Given the description of an element on the screen output the (x, y) to click on. 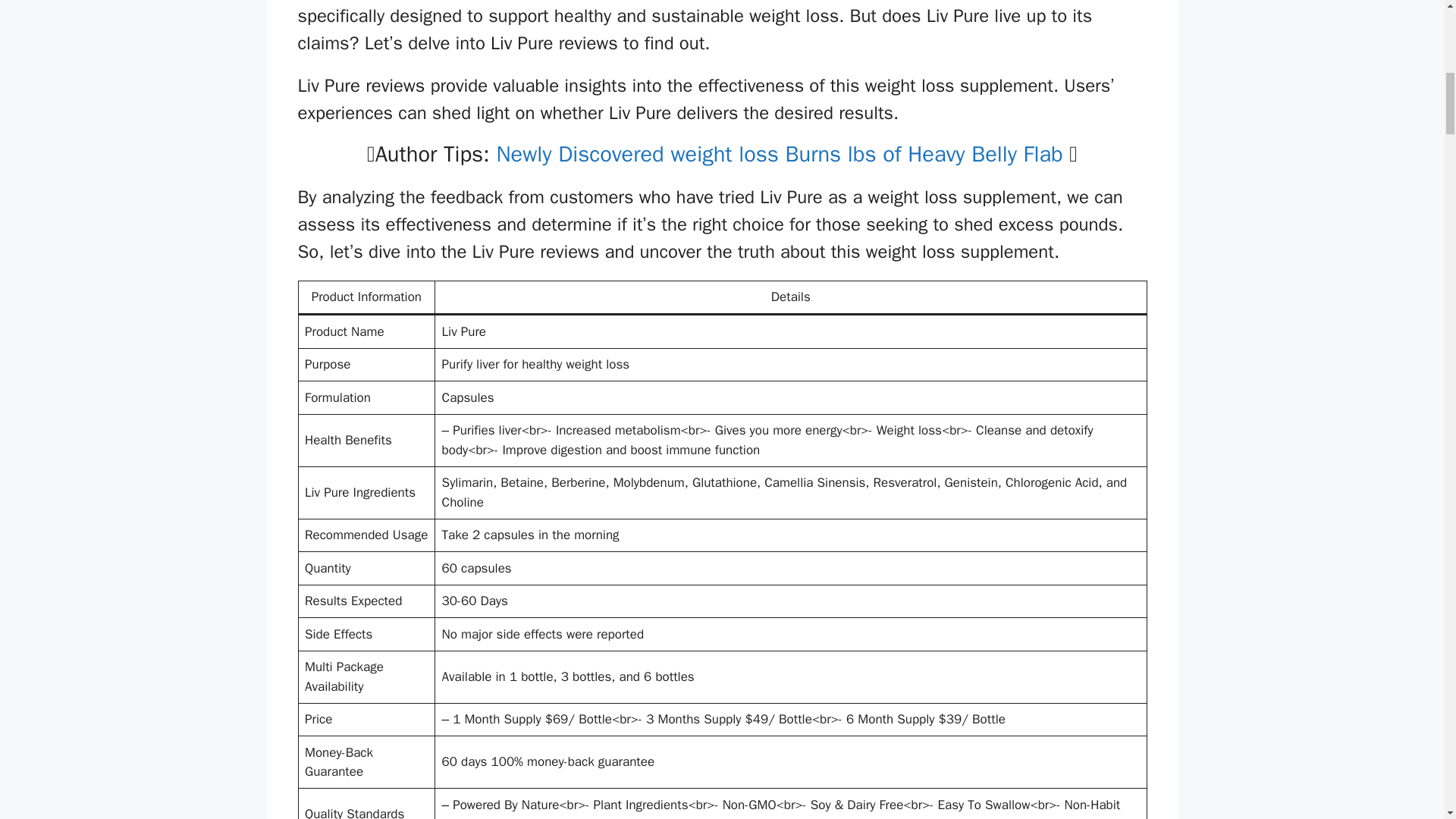
Scroll back to top (1406, 720)
Newly Discovered weight loss Burns lbs of Heavy Belly Flab (775, 154)
